Given the description of an element on the screen output the (x, y) to click on. 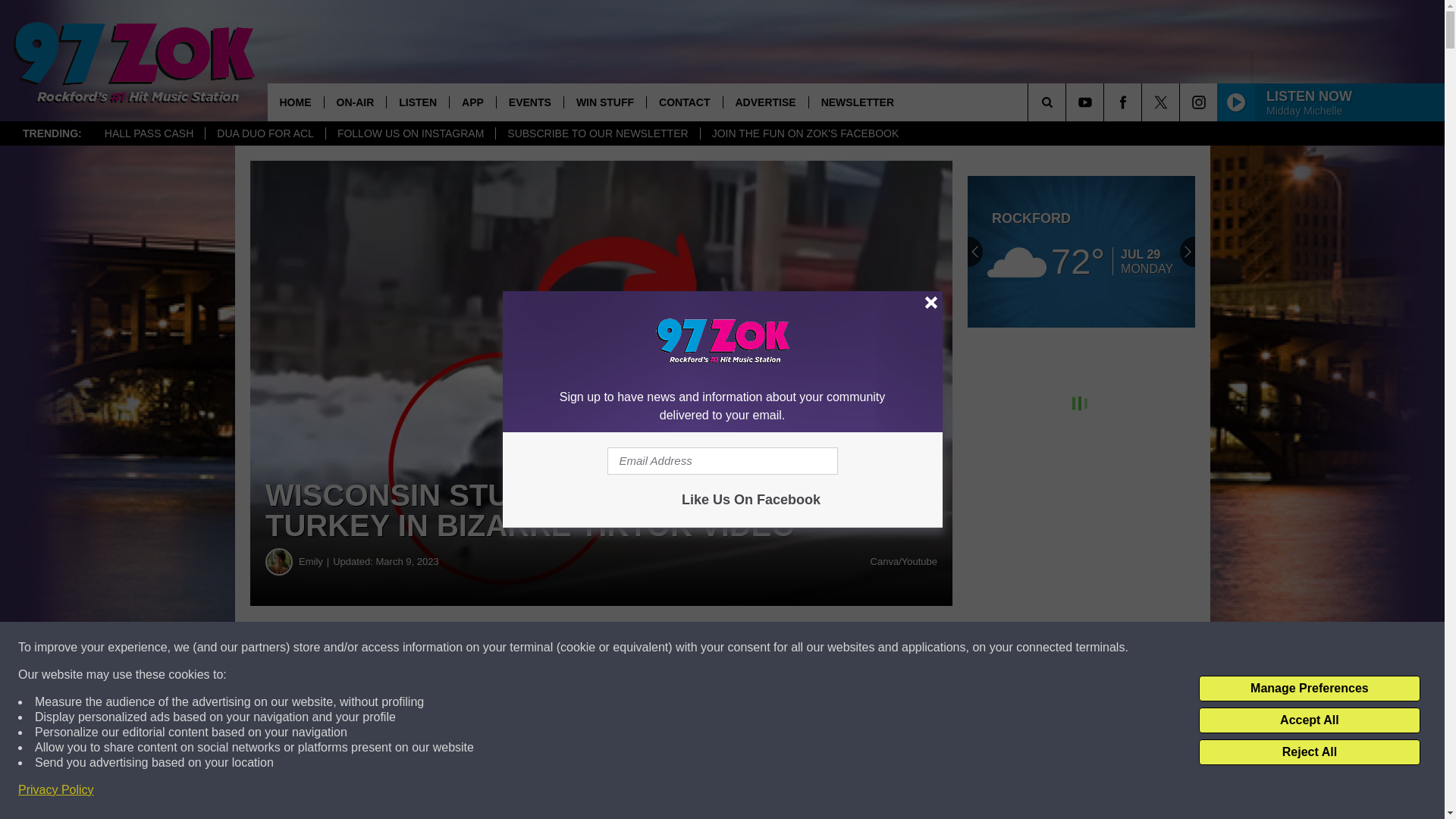
EVENTS (529, 102)
HOME (294, 102)
WIN STUFF (604, 102)
DUA DUO FOR ACL (264, 133)
SEARCH (1068, 102)
Reject All (1309, 751)
HALL PASS CASH (149, 133)
Privacy Policy (55, 789)
Accept All (1309, 720)
Rockford Weather (1081, 251)
ON-AIR (354, 102)
Email Address (722, 461)
SUBSCRIBE TO OUR NEWSLETTER (596, 133)
FOLLOW US ON INSTAGRAM (409, 133)
Share on Facebook (460, 647)
